Given the description of an element on the screen output the (x, y) to click on. 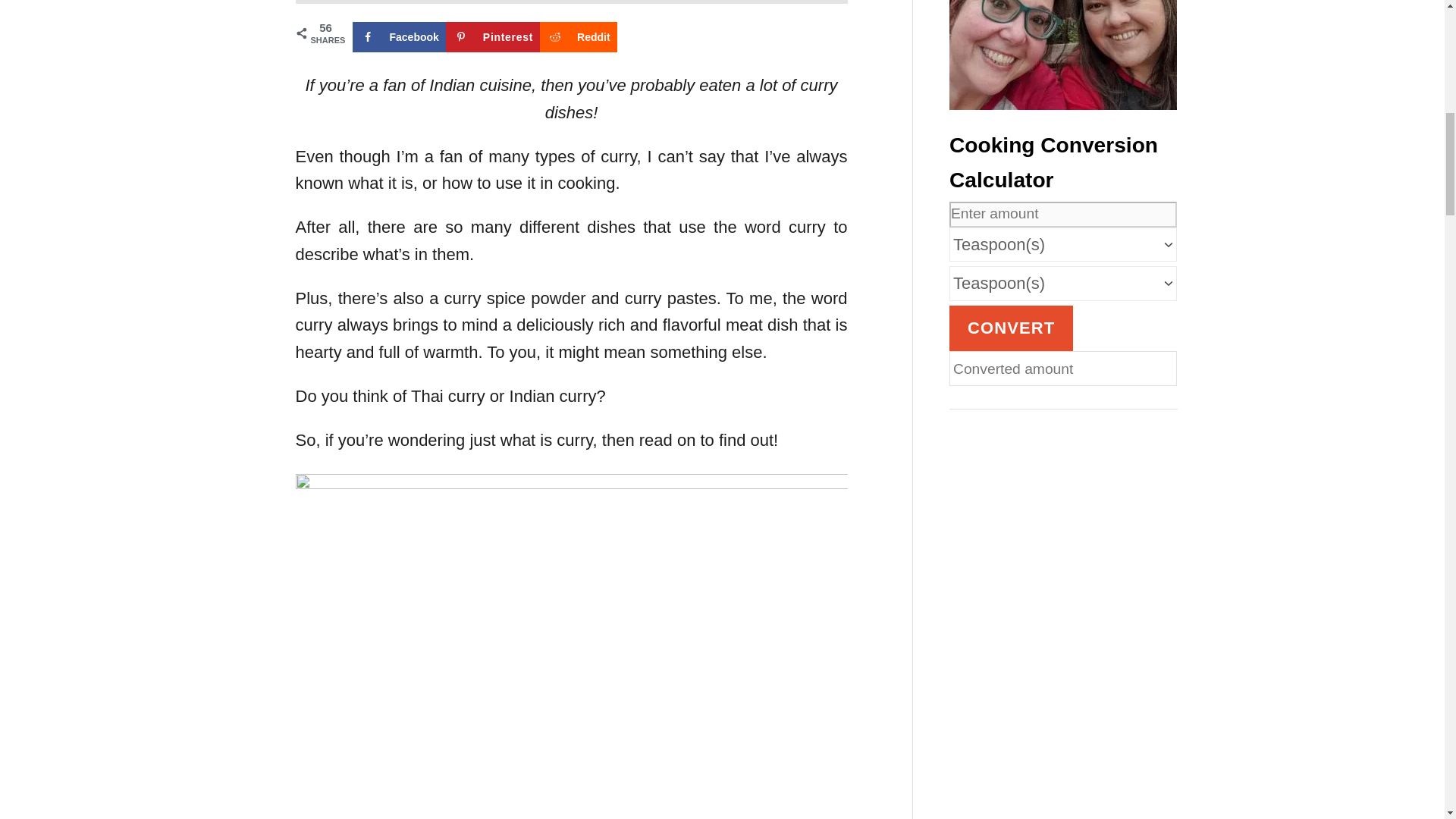
Share on Reddit (578, 37)
Save to Pinterest (492, 37)
Share on Facebook (398, 37)
